Given the description of an element on the screen output the (x, y) to click on. 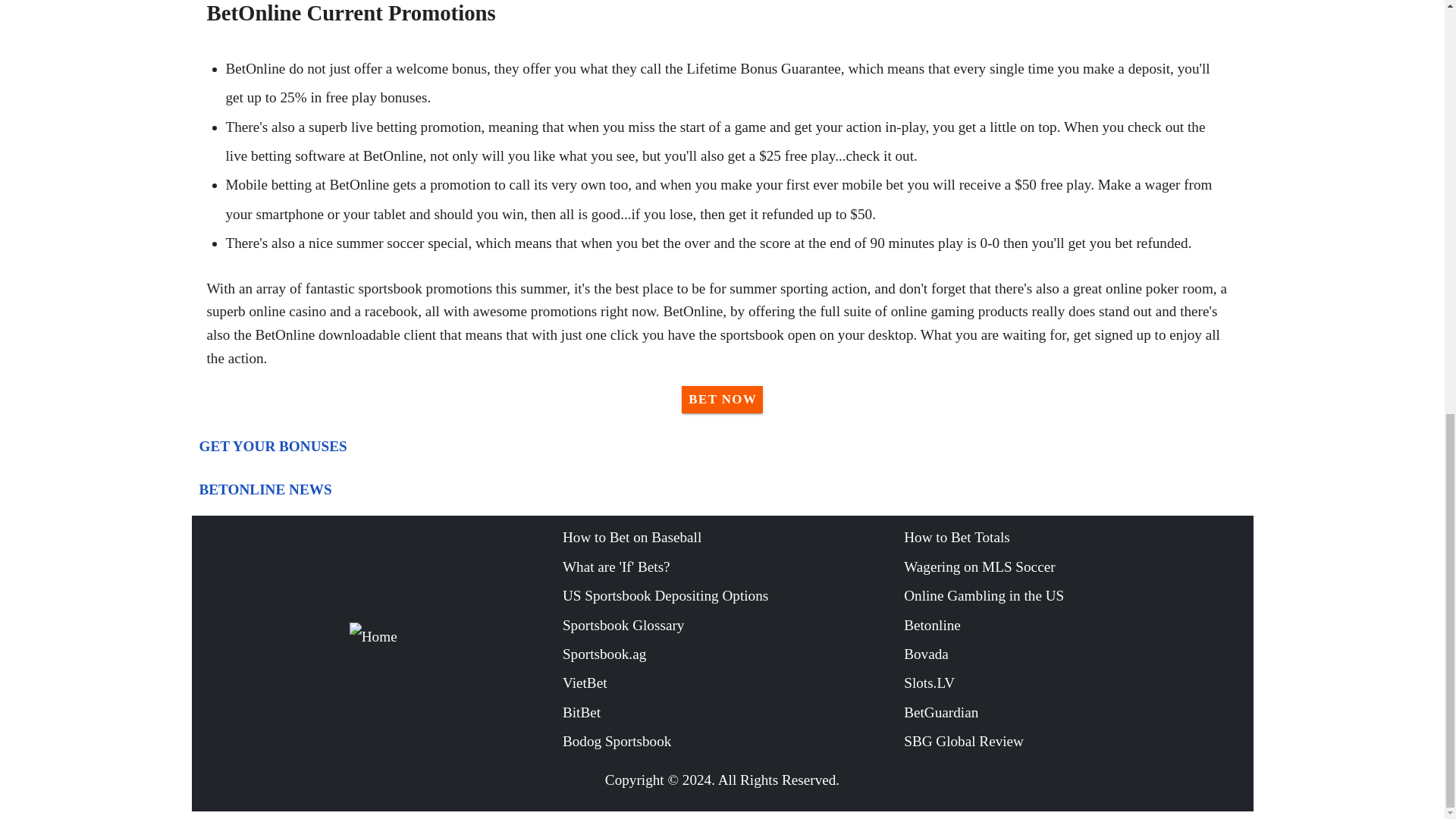
Sportsbook Glossary (733, 624)
Bodog Sportsbook (733, 741)
Sportsbook.ag (733, 654)
SBG Global Review (1074, 741)
BetGuardian (1074, 712)
Online Gambling in the US (1074, 595)
BitBet (733, 712)
BET NOW (721, 399)
VietBet (733, 683)
Wagering on MLS Soccer (1074, 566)
